Given the description of an element on the screen output the (x, y) to click on. 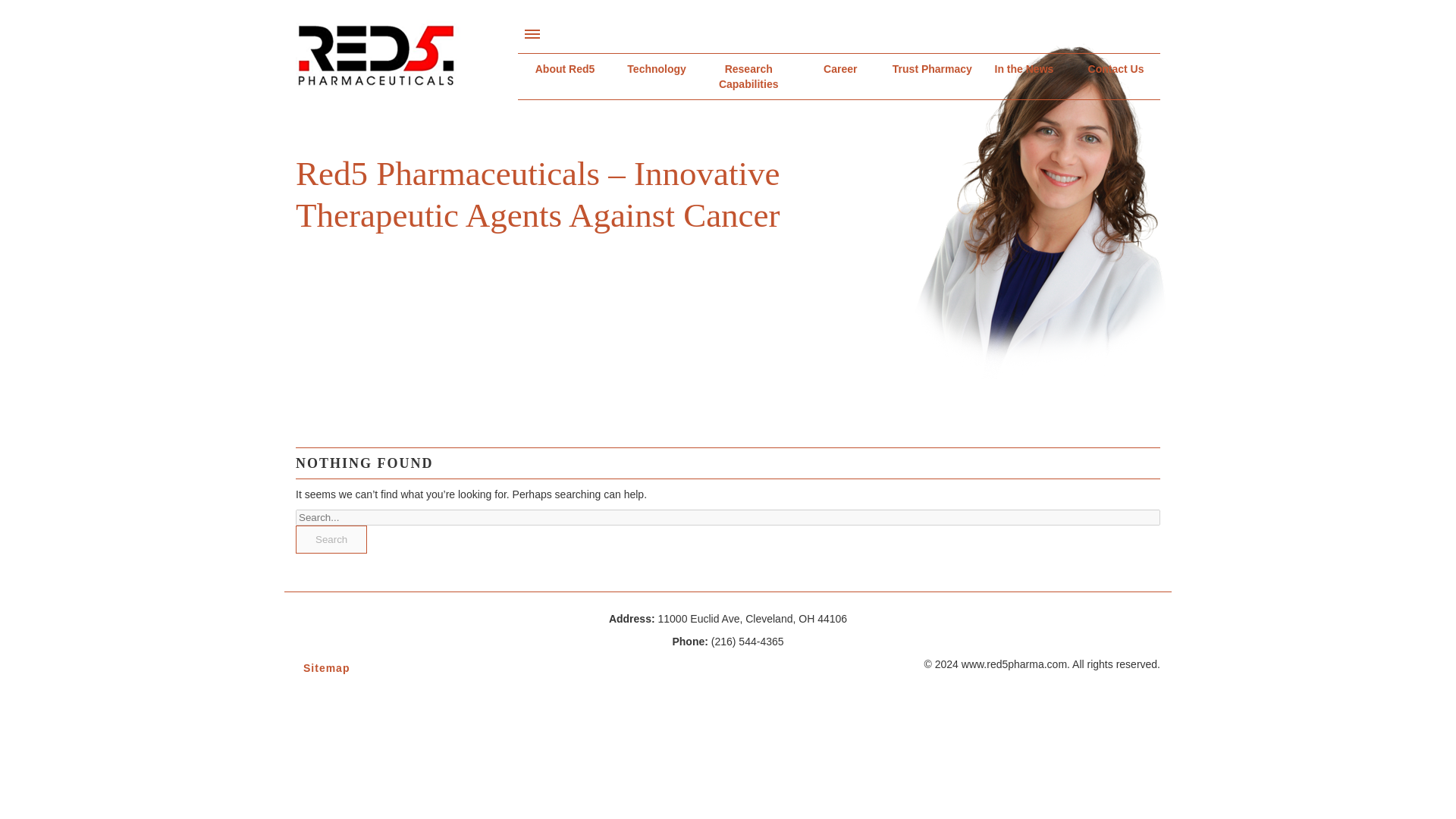
Research Capabilities (748, 76)
Trust Pharmacy (932, 69)
Contact Us (1115, 69)
Search (330, 539)
Career (840, 69)
Sitemap (400, 667)
Technology (657, 69)
In the News (1023, 69)
About Red5 (563, 69)
Menu (531, 33)
